Given the description of an element on the screen output the (x, y) to click on. 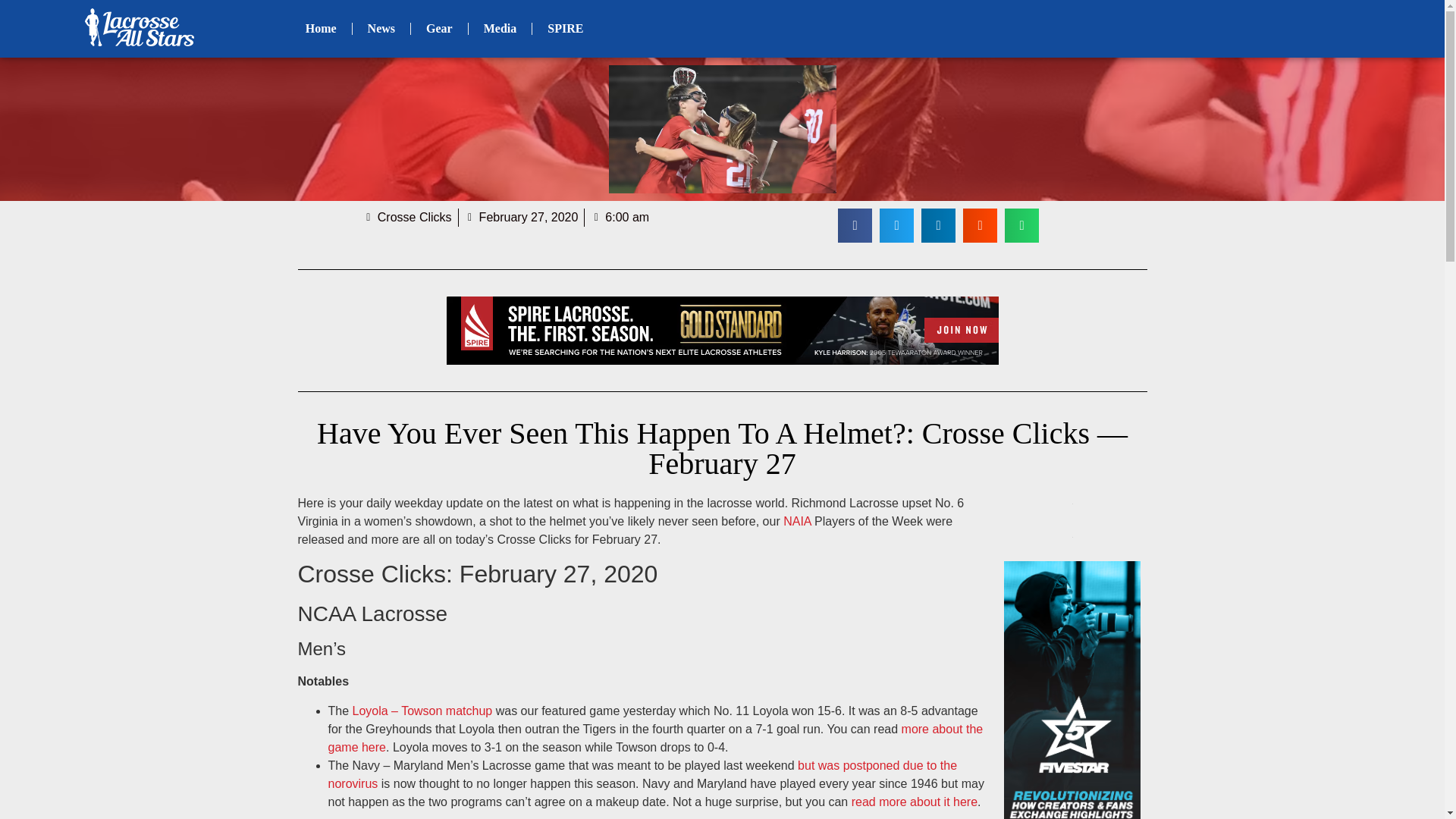
Home (320, 28)
NAIA (796, 521)
February 27, 2020 (521, 217)
Crosse Clicks (406, 217)
Gear (438, 28)
Media (500, 28)
more about the game here (654, 737)
SPIRE (565, 28)
News (381, 28)
read more about it here (913, 801)
but was postponed due to the norovirus (641, 774)
